Given the description of an element on the screen output the (x, y) to click on. 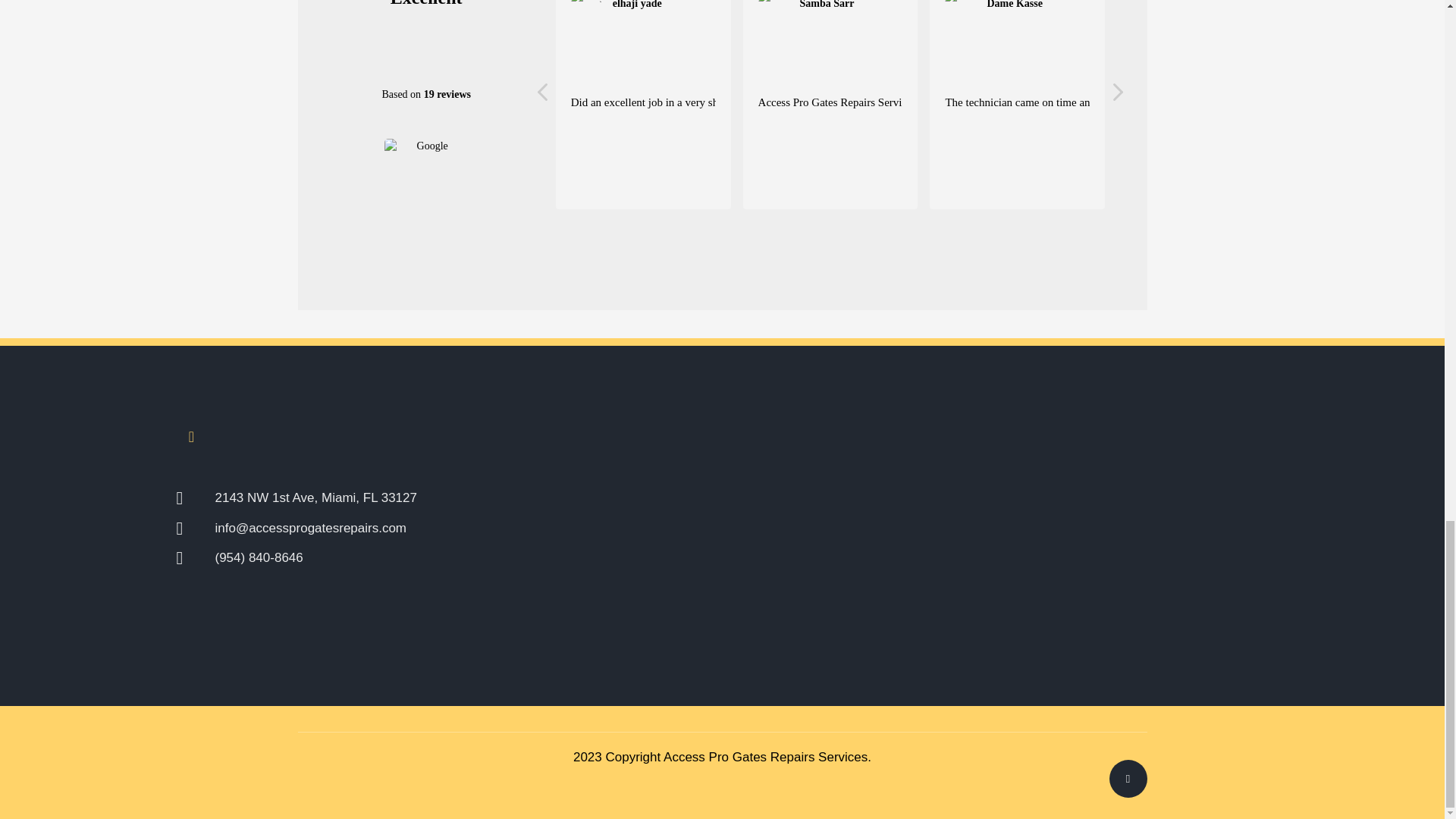
Facebook (191, 436)
2143 NW 1st Ave, Miami, FL 33127 (408, 497)
Access Pro Gates Repairs Services (765, 757)
